Given the description of an element on the screen output the (x, y) to click on. 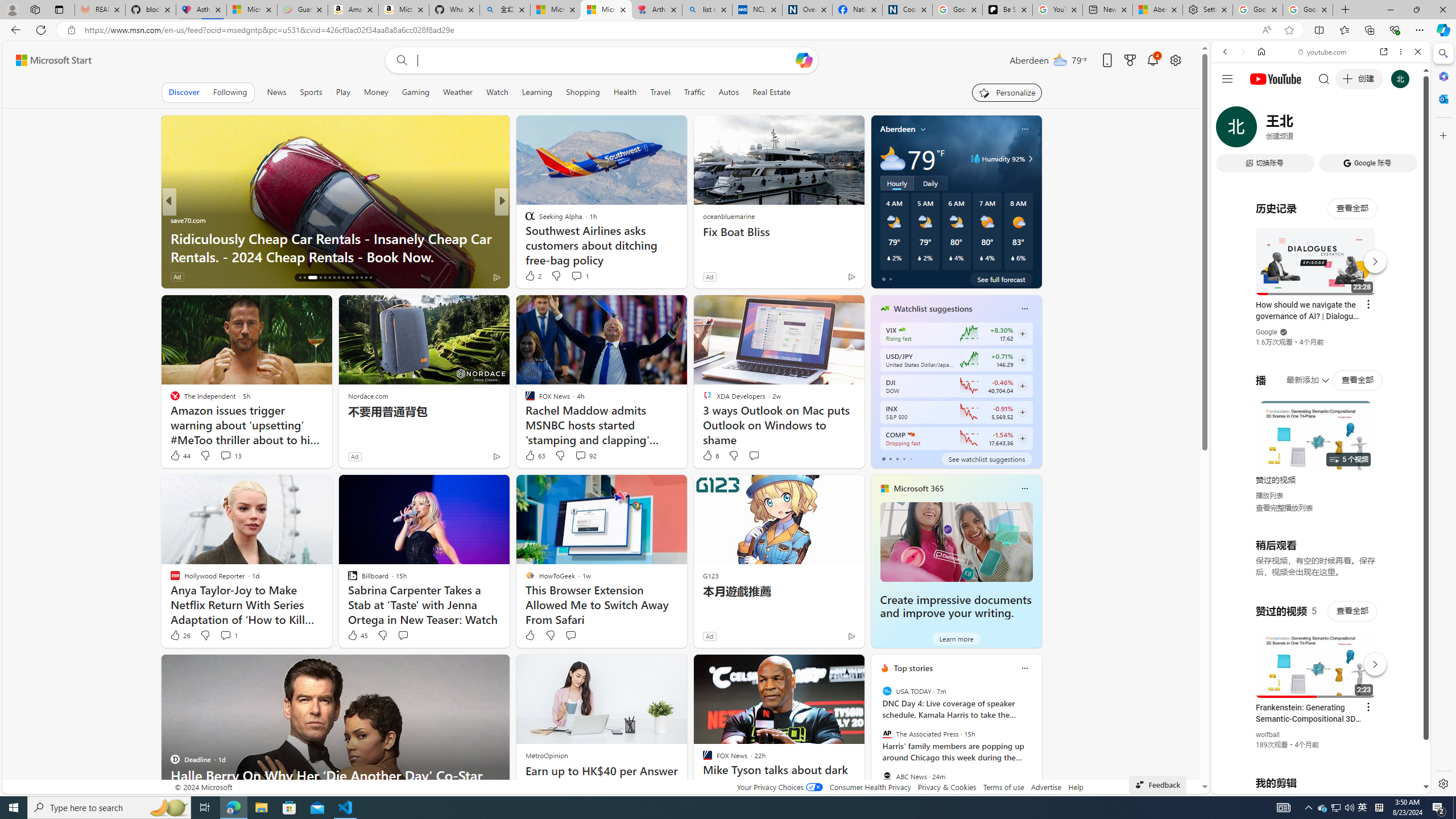
View comments 4 Comment (583, 276)
youtube.com (1322, 51)
Class: weather-arrow-glyph (1029, 158)
Create impressive documents and improve your writing. (955, 541)
View comments 9 Comment (576, 276)
AutomationID: tab-22 (333, 277)
Preferences (1403, 129)
The Associated Press (886, 733)
ABC News (886, 775)
Privacy & Cookies (946, 786)
SEARCH TOOLS (1350, 130)
